Given the description of an element on the screen output the (x, y) to click on. 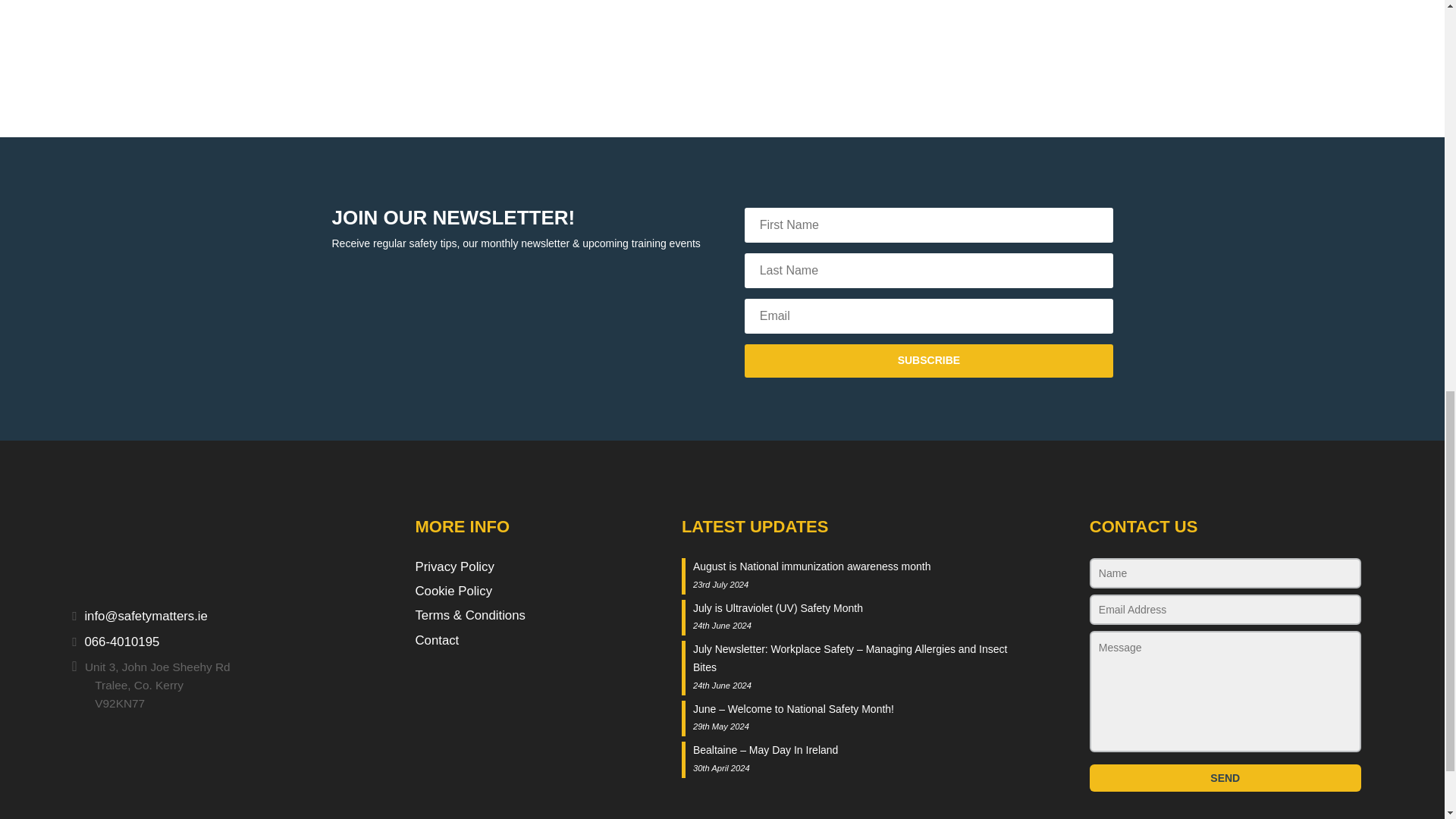
IIRSM-Logo (1093, 2)
NHP-Logo (720, 2)
Irish Human Factors and Ergonomics Society (906, 2)
FSPA Logo (1278, 2)
Approved-training-provider-IOSH-logo (350, 59)
Irish-Heart-Foundation (164, 2)
atex-accreditation-1 (536, 59)
APEA-Logo (536, 2)
RTITB-Logo (350, 2)
EHAI-Logo (164, 59)
